Given the description of an element on the screen output the (x, y) to click on. 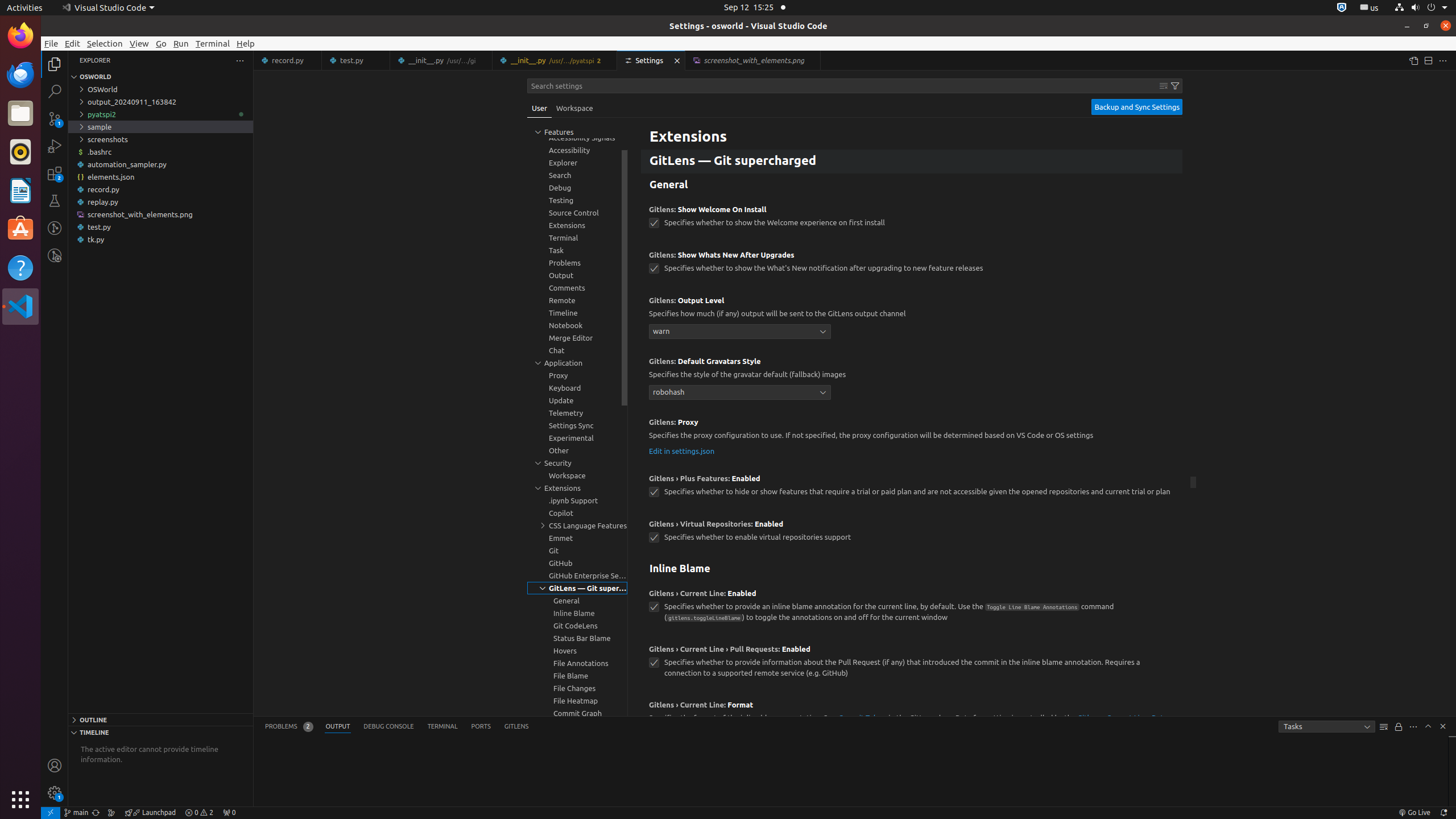
GitLens — Git supercharged Element type: tree-item (911, 161)
Testing Element type: page-tab (54, 200)
No Ports Forwarded Element type: push-button (228, 812)
Gitlens Show Welcome On Install. Specifies whether to show the Welcome experience on first install  Element type: tree-item (911, 219)
Gitlens › Plus Features Enabled. Specifies whether to hide or show features that require a trial or paid plan and are not accessible given the opened repositories and current trial or plan  Element type: tree-item (911, 488)
